Given the description of an element on the screen output the (x, y) to click on. 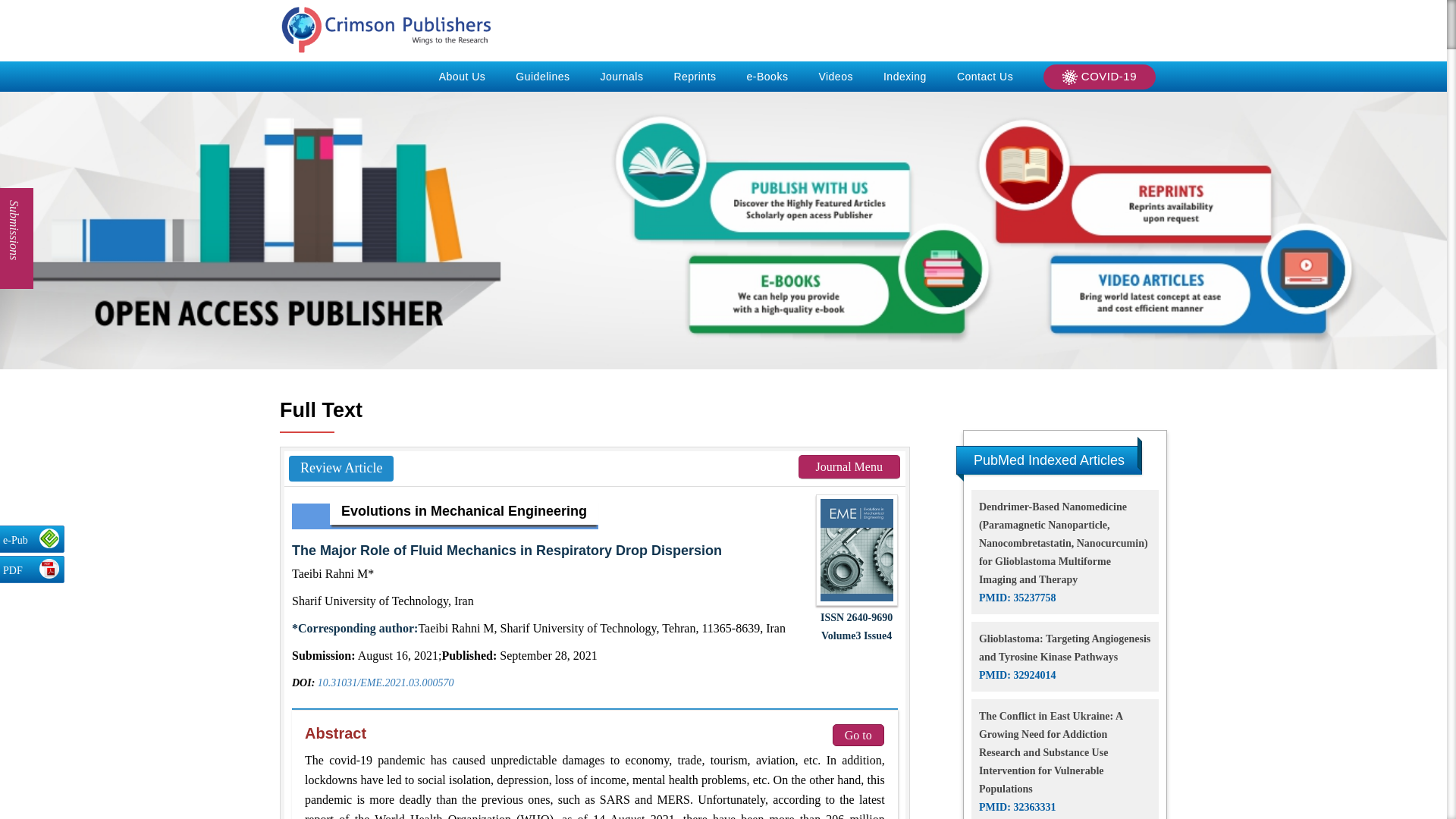
Indexing (904, 76)
Journals (621, 76)
Guidelines (542, 76)
Contact Us (984, 76)
Reprints (694, 76)
About Us (461, 76)
Videos (835, 76)
e-Books (767, 76)
